Given the description of an element on the screen output the (x, y) to click on. 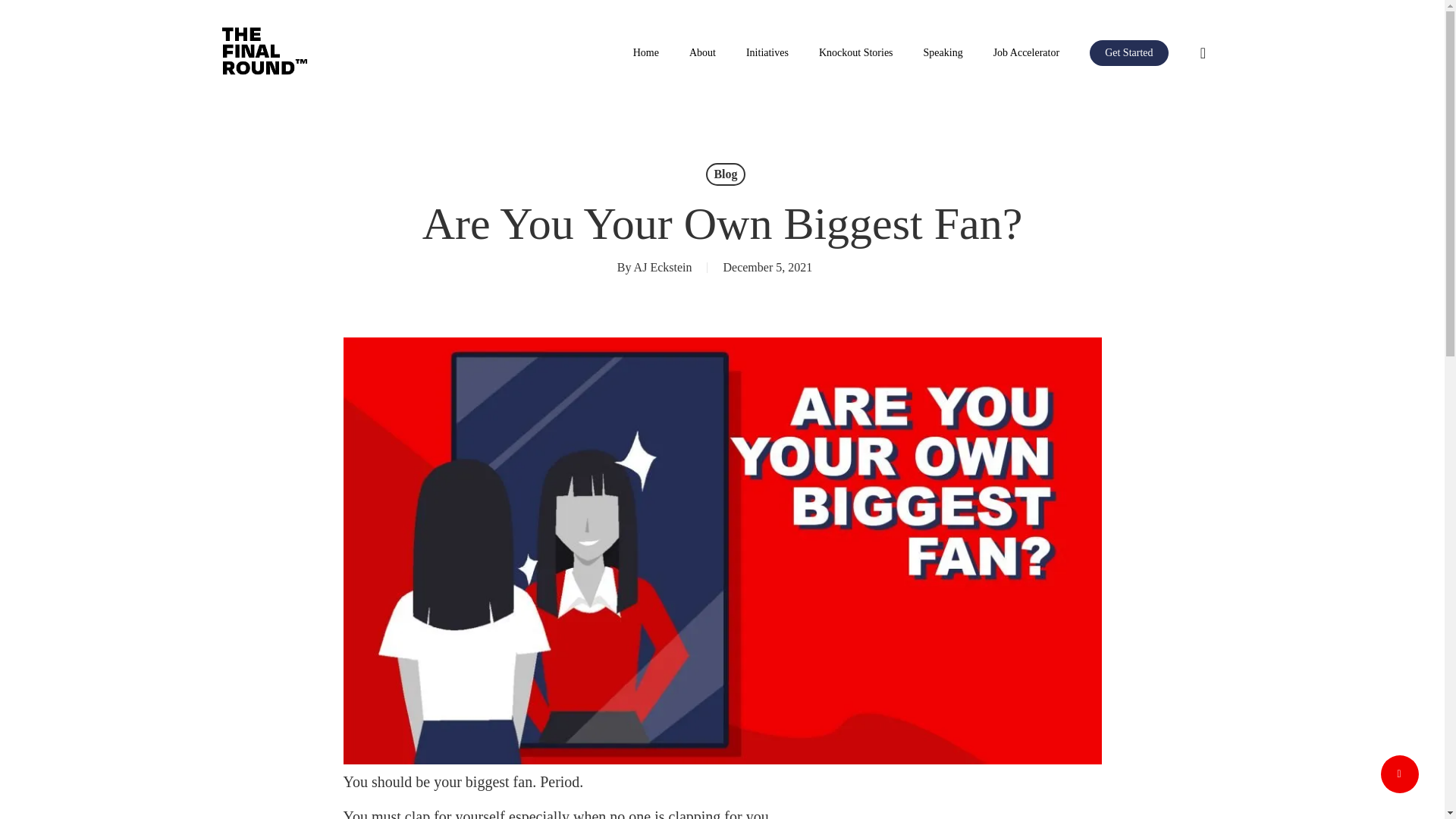
Speaking (942, 52)
Get Started (1128, 52)
Job Accelerator (1025, 52)
Initiatives (767, 52)
AJ Eckstein (663, 267)
About (702, 52)
Blog (725, 173)
Posts by AJ Eckstein (663, 267)
search (1202, 53)
Knockout Stories (855, 52)
